Given the description of an element on the screen output the (x, y) to click on. 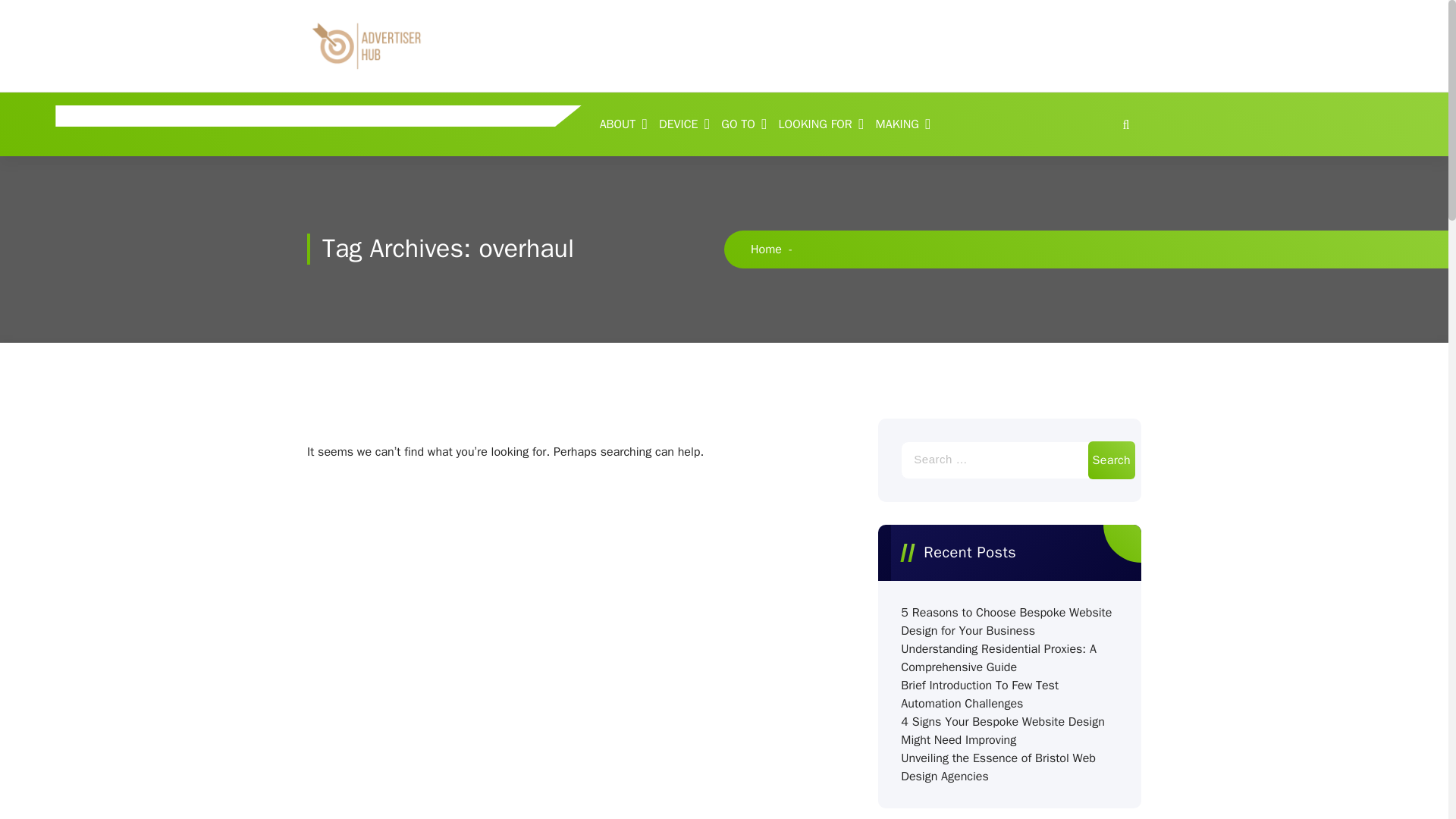
Search (1111, 460)
ABOUT (620, 124)
Search (1111, 460)
